Given the description of an element on the screen output the (x, y) to click on. 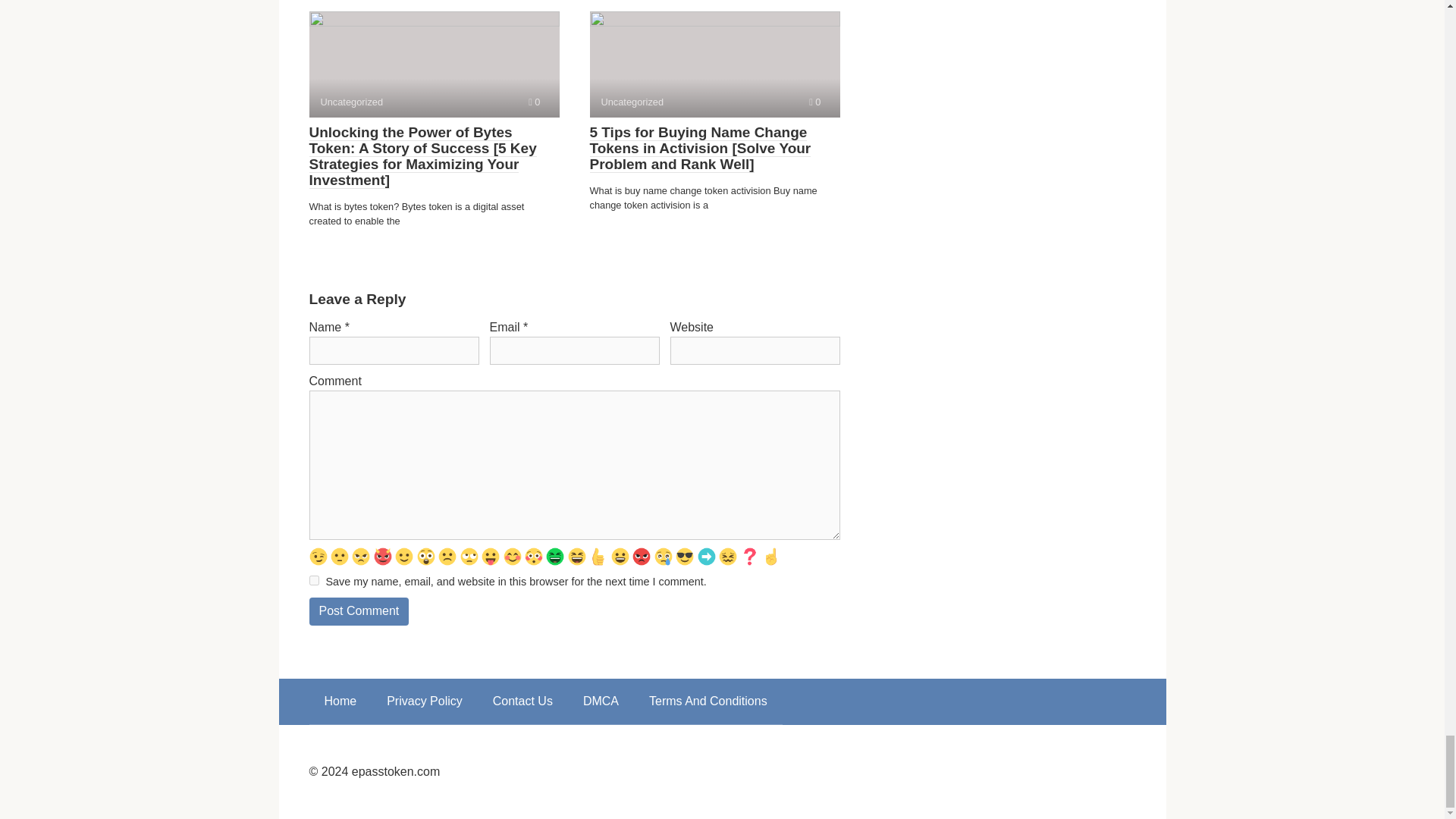
Comments (534, 101)
yes (313, 580)
Comments (815, 101)
Post Comment (358, 611)
